Given the description of an element on the screen output the (x, y) to click on. 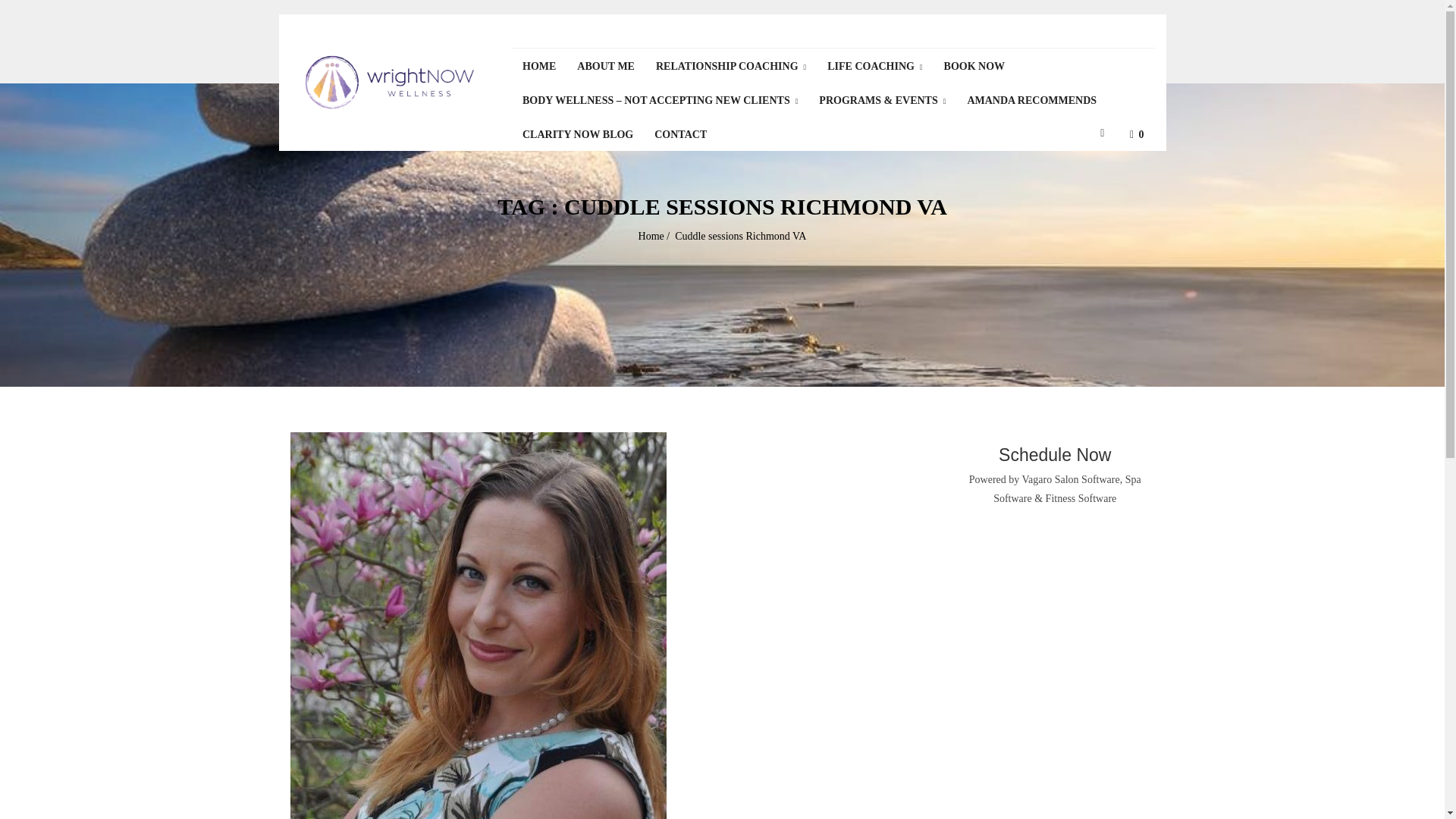
HOME (539, 65)
CONTACT (680, 133)
RELATIONSHIP COACHING (730, 66)
CLARITY NOW BLOG (577, 133)
AMANDA RECOMMENDS (1031, 100)
LIFE COACHING (874, 66)
BOOK NOW (974, 65)
Home (651, 235)
0 (1135, 133)
ABOUT ME (605, 65)
